Given the description of an element on the screen output the (x, y) to click on. 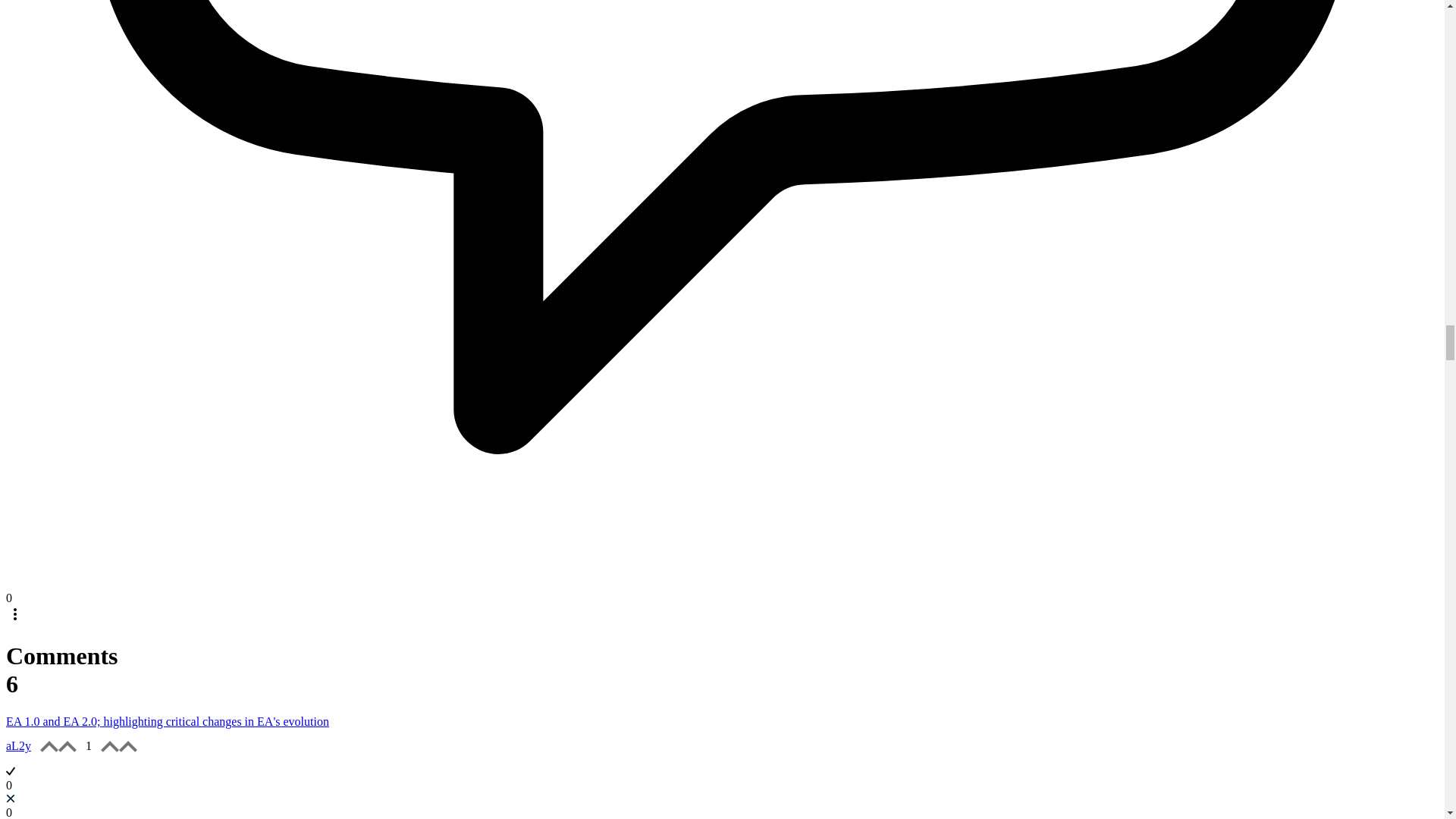
2y (24, 745)
